Given the description of an element on the screen output the (x, y) to click on. 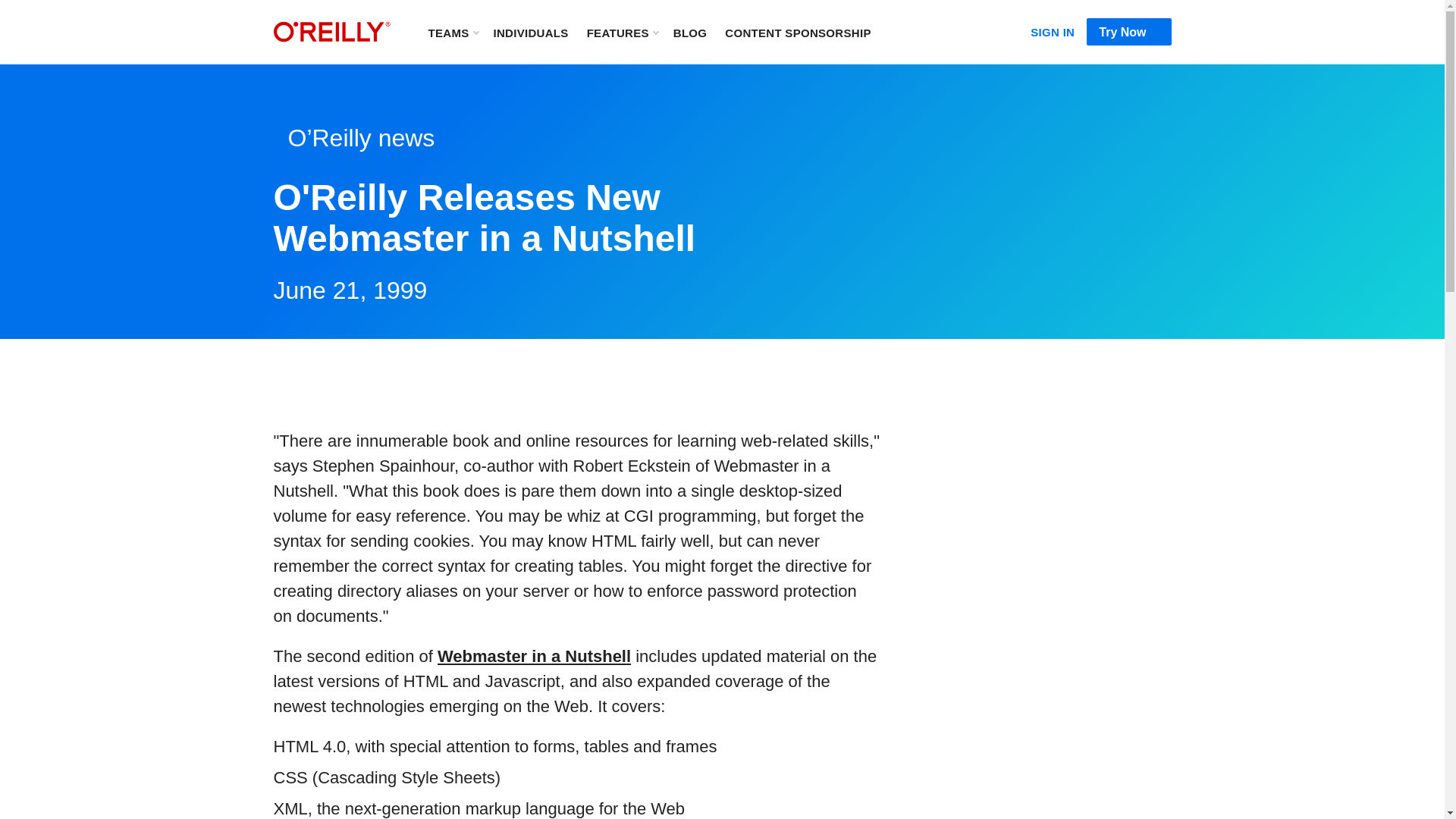
CONTENT SPONSORSHIP (797, 31)
SIGN IN (1052, 29)
BLOG (689, 31)
home page (331, 31)
FEATURES (622, 31)
TEAMS (452, 31)
Search (903, 31)
INDIVIDUALS (534, 656)
Try Now (530, 31)
